Given the description of an element on the screen output the (x, y) to click on. 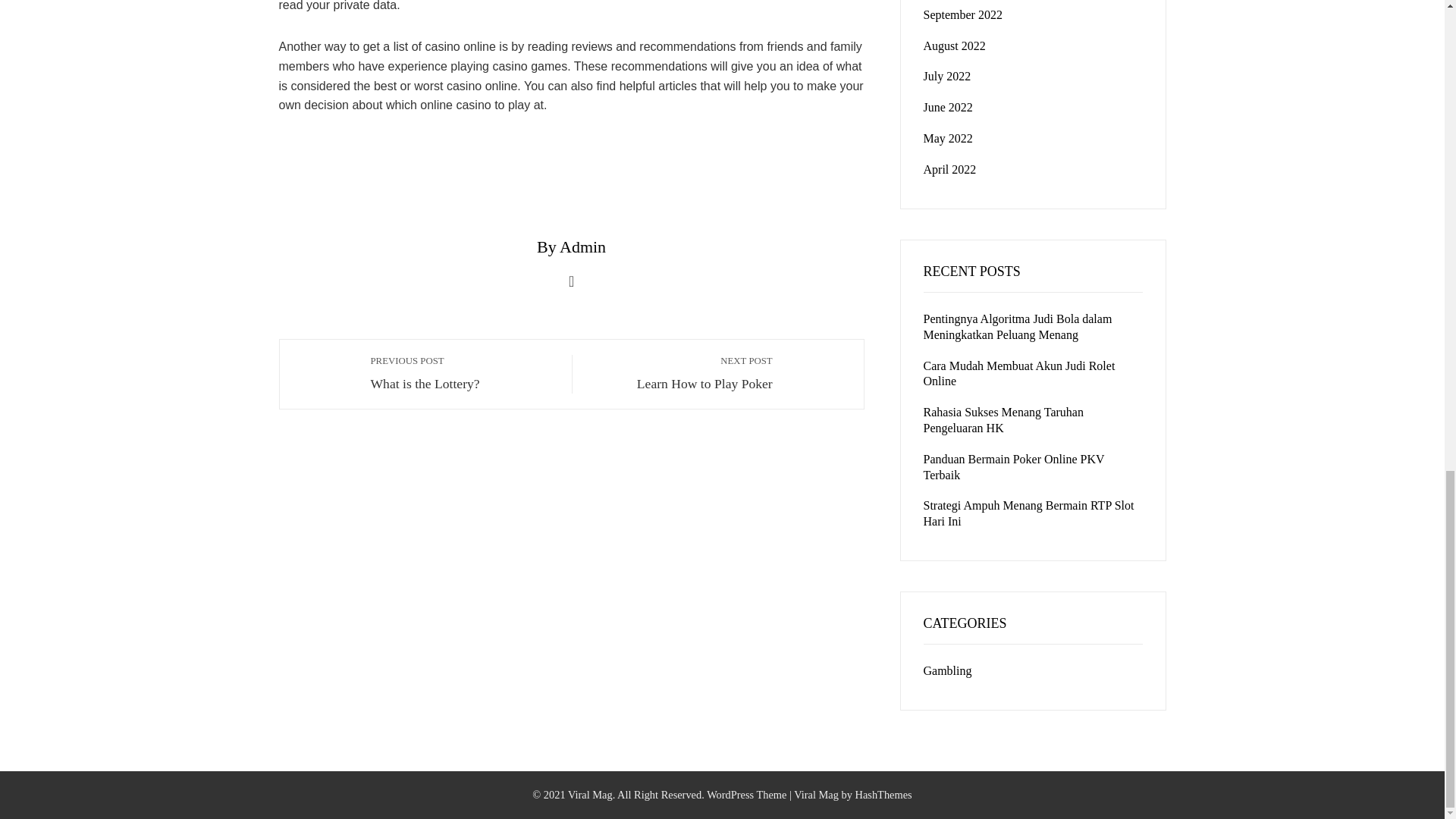
Download Viral News (815, 794)
